Given the description of an element on the screen output the (x, y) to click on. 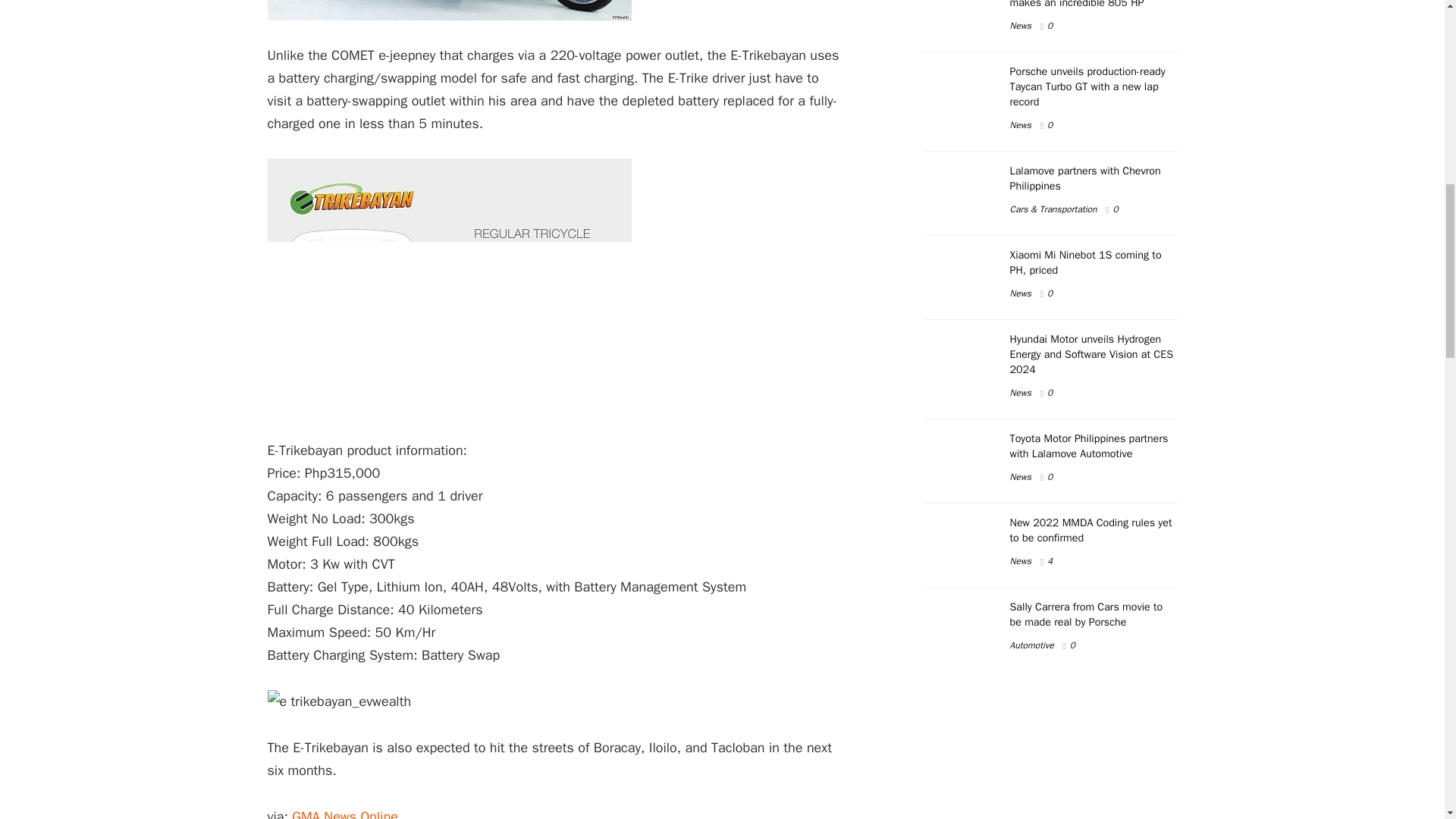
Electric Tricycles roll out in Mandaluyong City 2 (448, 286)
GMA News Online (344, 813)
Electric Tricycles roll out in Mandaluyong City 3 (338, 701)
Electric Tricycles roll out in Mandaluyong City 1 (448, 10)
